Given the description of an element on the screen output the (x, y) to click on. 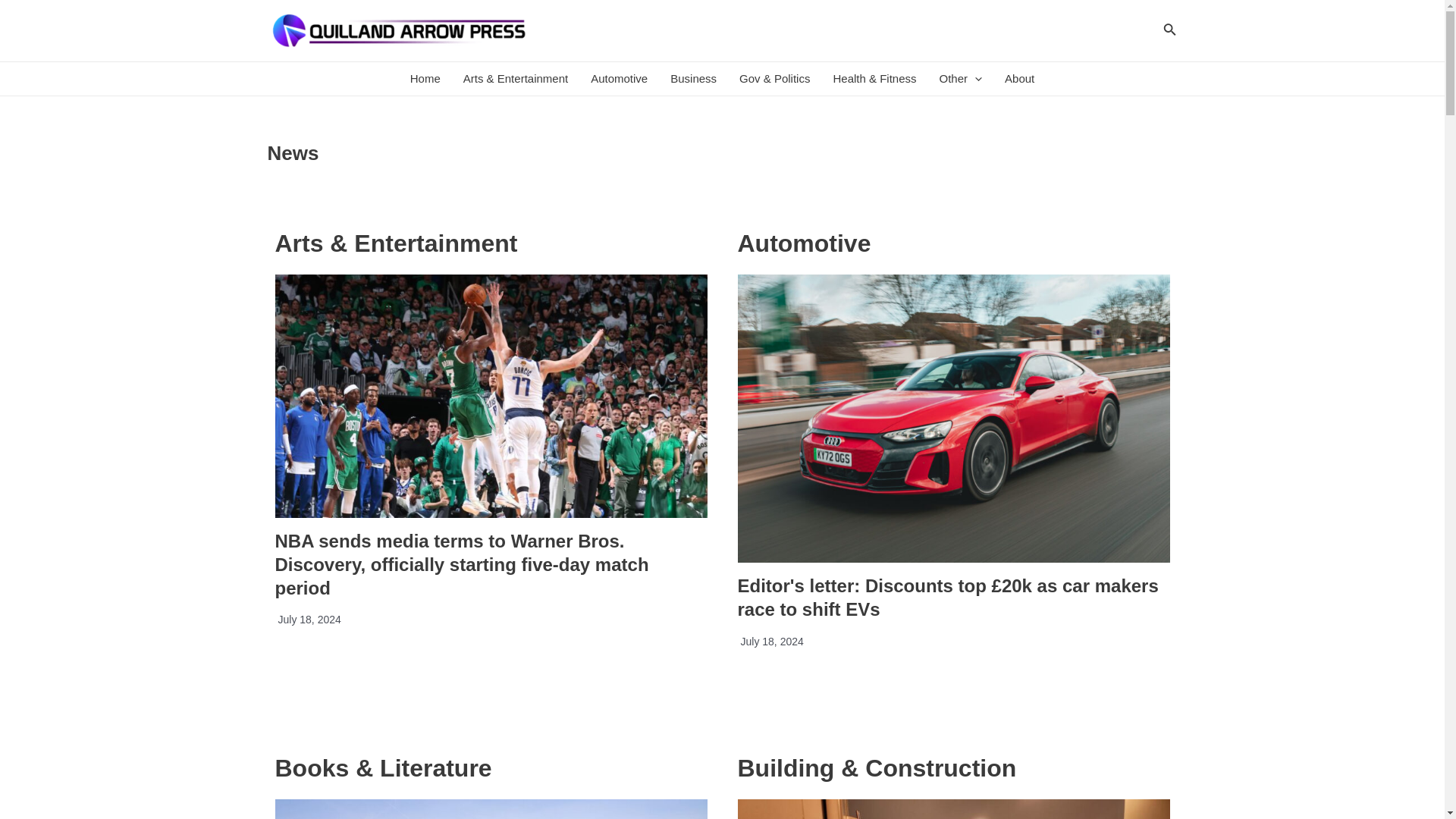
Automotive (619, 78)
About (1018, 78)
Business (693, 78)
Home (424, 78)
Other (961, 78)
